Given the description of an element on the screen output the (x, y) to click on. 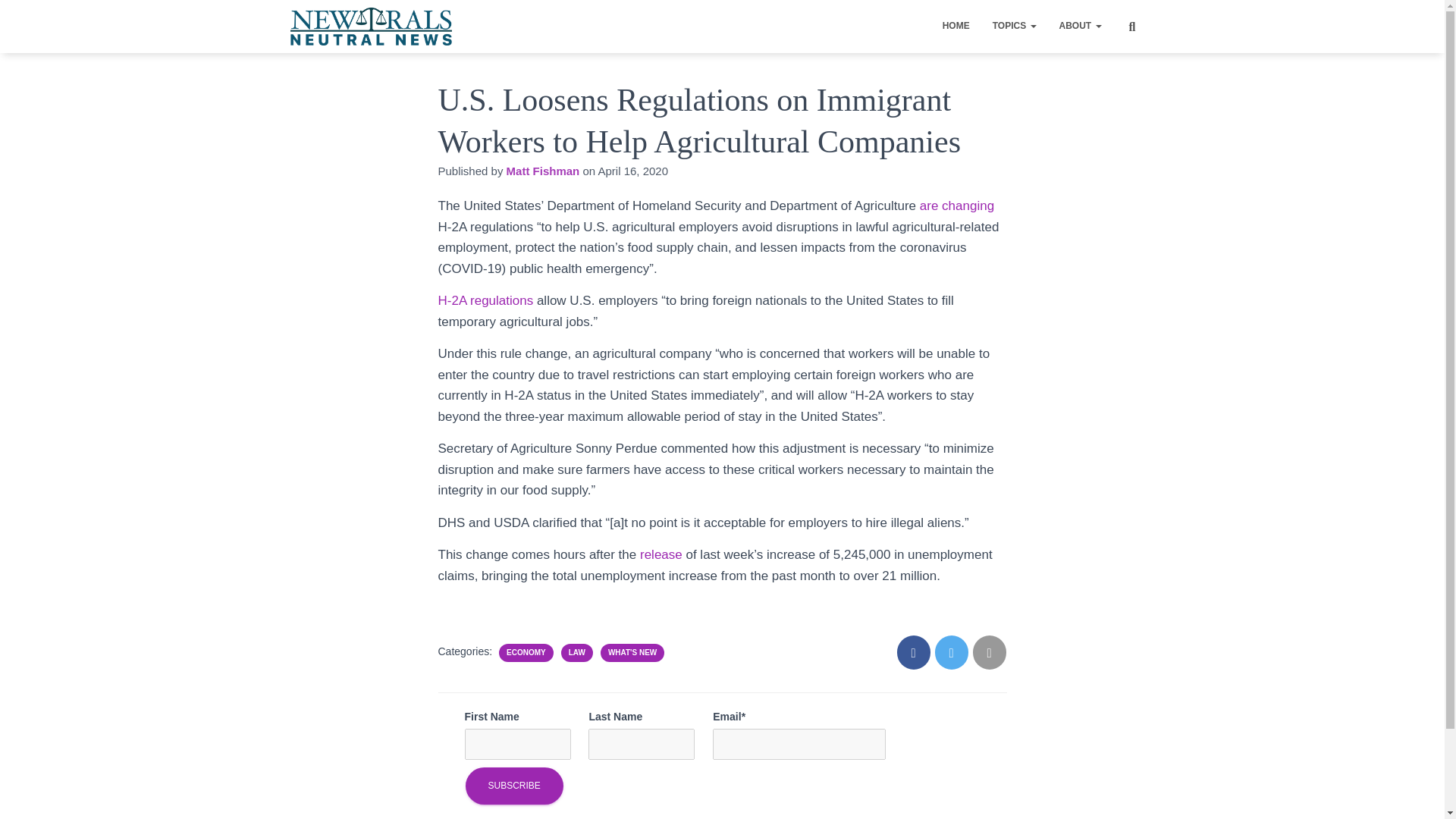
Subscribe (514, 785)
Topics (1014, 26)
Subscribe (514, 785)
ECONOMY (526, 653)
are changing (957, 205)
Newtrals (371, 26)
Home (956, 26)
release (662, 554)
Matt Fishman (542, 170)
LAW (577, 653)
